Given the description of an element on the screen output the (x, y) to click on. 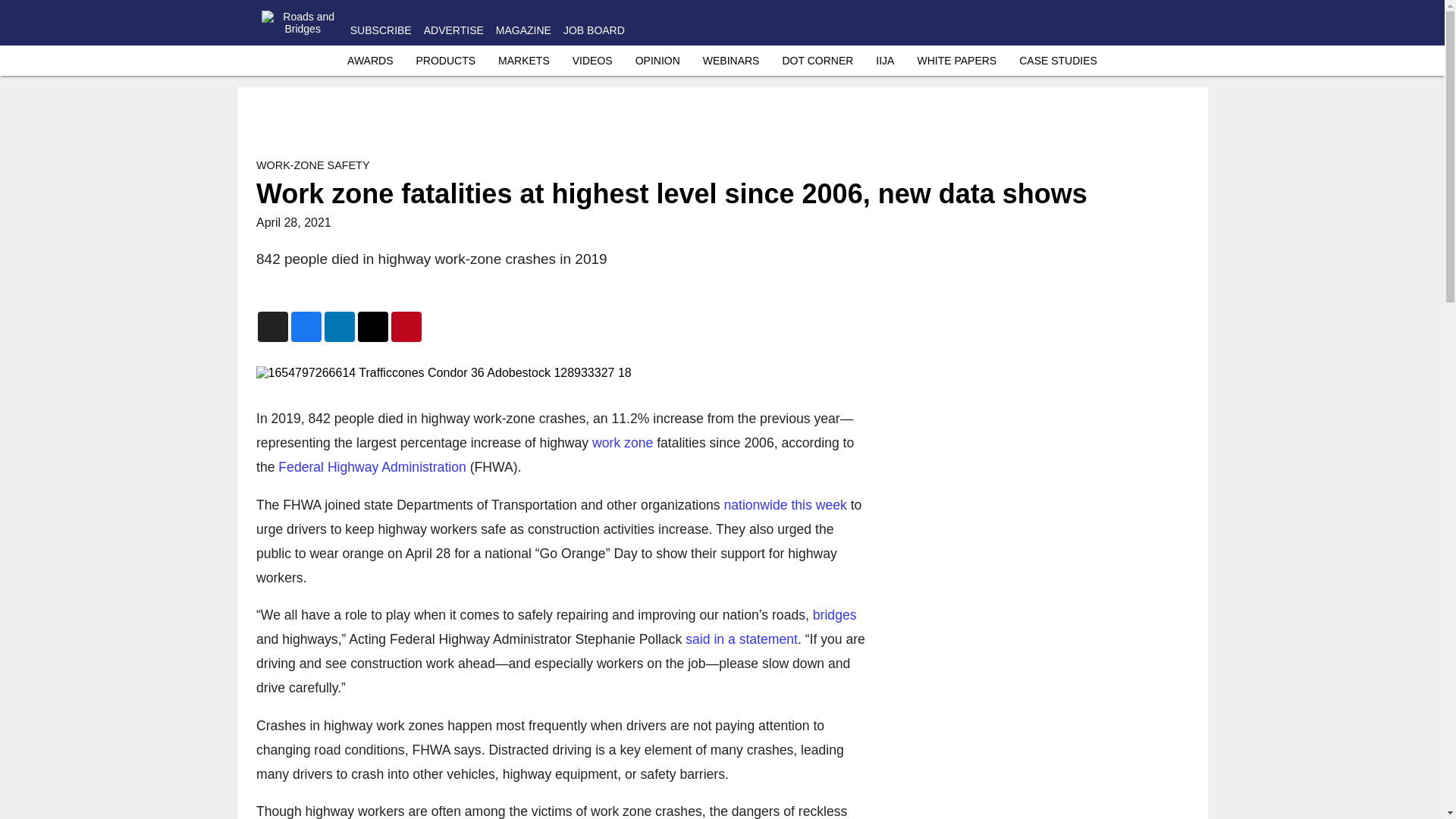
PRODUCTS (445, 60)
IIJA (884, 60)
MARKETS (523, 60)
MAGAZINE (523, 30)
AWARDS (370, 60)
ADVERTISE (453, 30)
said in a statement (741, 639)
1654797266614 Trafficcones Condor 36 Adobestock 128933327 18 (560, 373)
SUBSCRIBE (381, 30)
nationwide this week (784, 503)
bridges (834, 614)
DOT CORNER (817, 60)
Federal Highway Administration (371, 467)
work zone (622, 442)
WHITE PAPERS (956, 60)
